Given the description of an element on the screen output the (x, y) to click on. 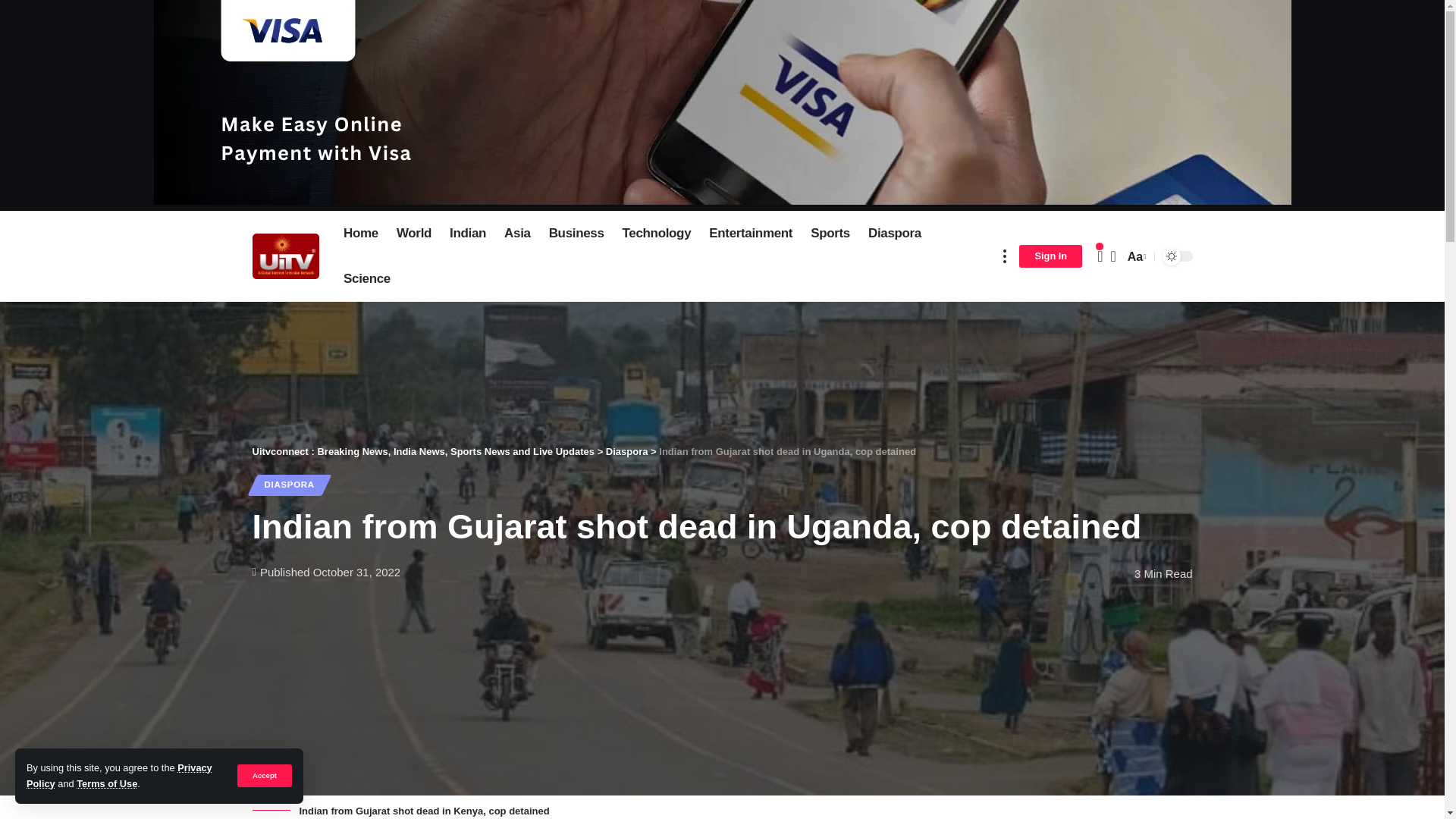
Home (360, 233)
Sports (830, 233)
Asia (517, 233)
Diaspora (894, 233)
Go to the Diaspora Category archives. (626, 451)
Terms of Use (106, 783)
Indian (468, 233)
Science (366, 279)
Accept (264, 775)
Privacy Policy (119, 775)
Entertainment (751, 233)
Technology (656, 233)
World (414, 233)
